Given the description of an element on the screen output the (x, y) to click on. 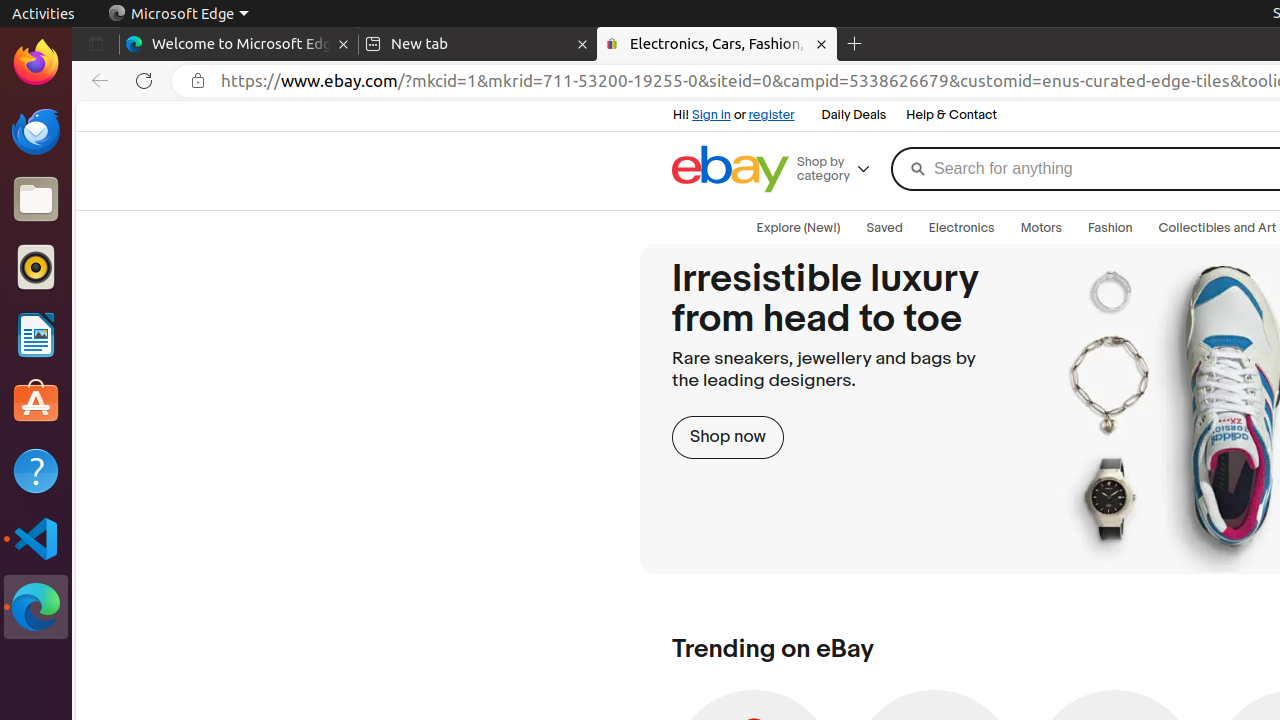
Electronics, Cars, Fashion, Collectibles & More | eBay Element type: page-tab (717, 44)
Ubuntu Software Element type: push-button (36, 402)
LibreOffice Writer Element type: push-button (36, 334)
Microsoft Edge Element type: push-button (36, 607)
Back Element type: push-button (96, 81)
